Given the description of an element on the screen output the (x, y) to click on. 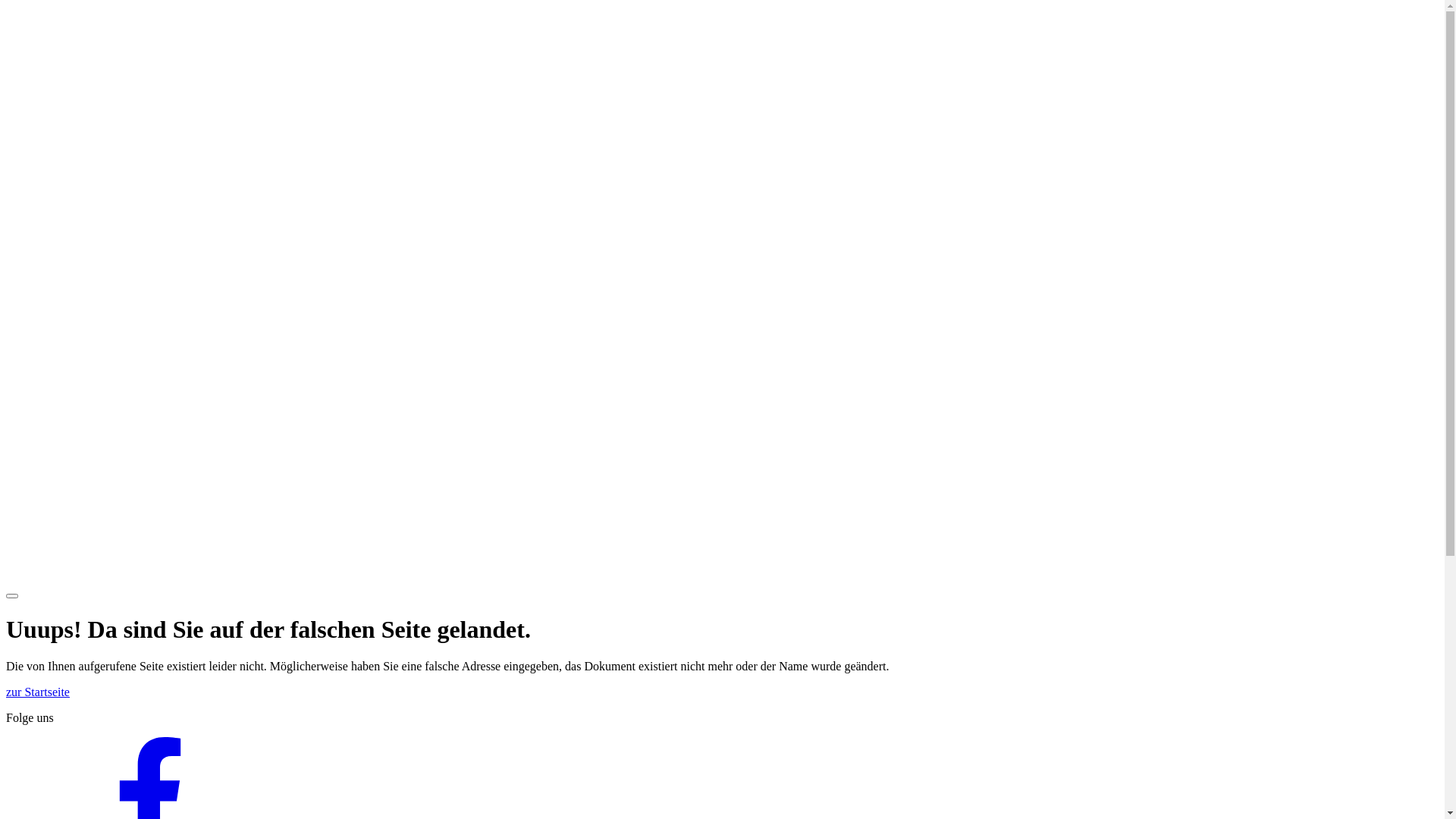
zur Startseite Element type: text (37, 691)
